Given the description of an element on the screen output the (x, y) to click on. 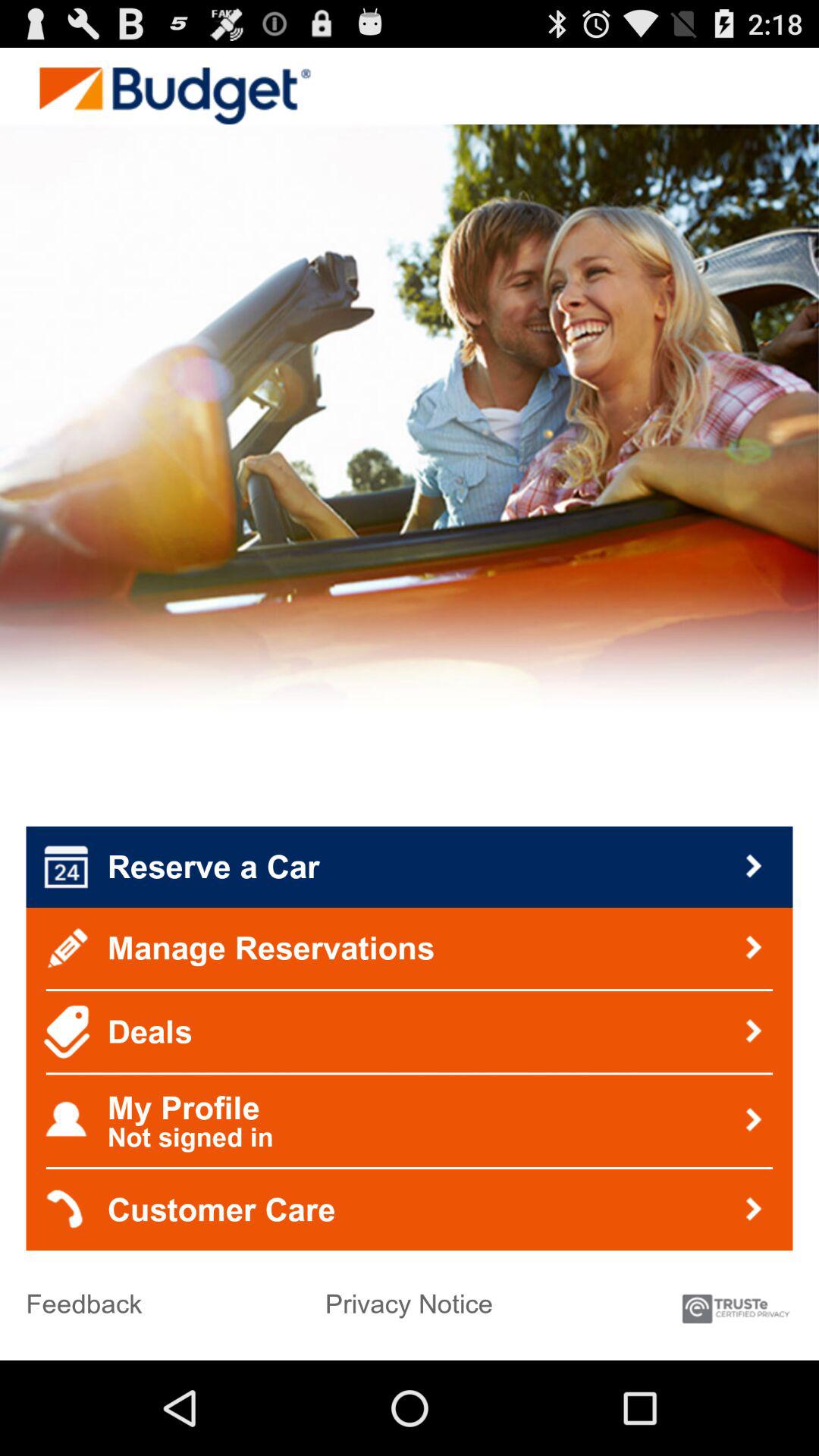
launch the feedback at the bottom left corner (84, 1297)
